Given the description of an element on the screen output the (x, y) to click on. 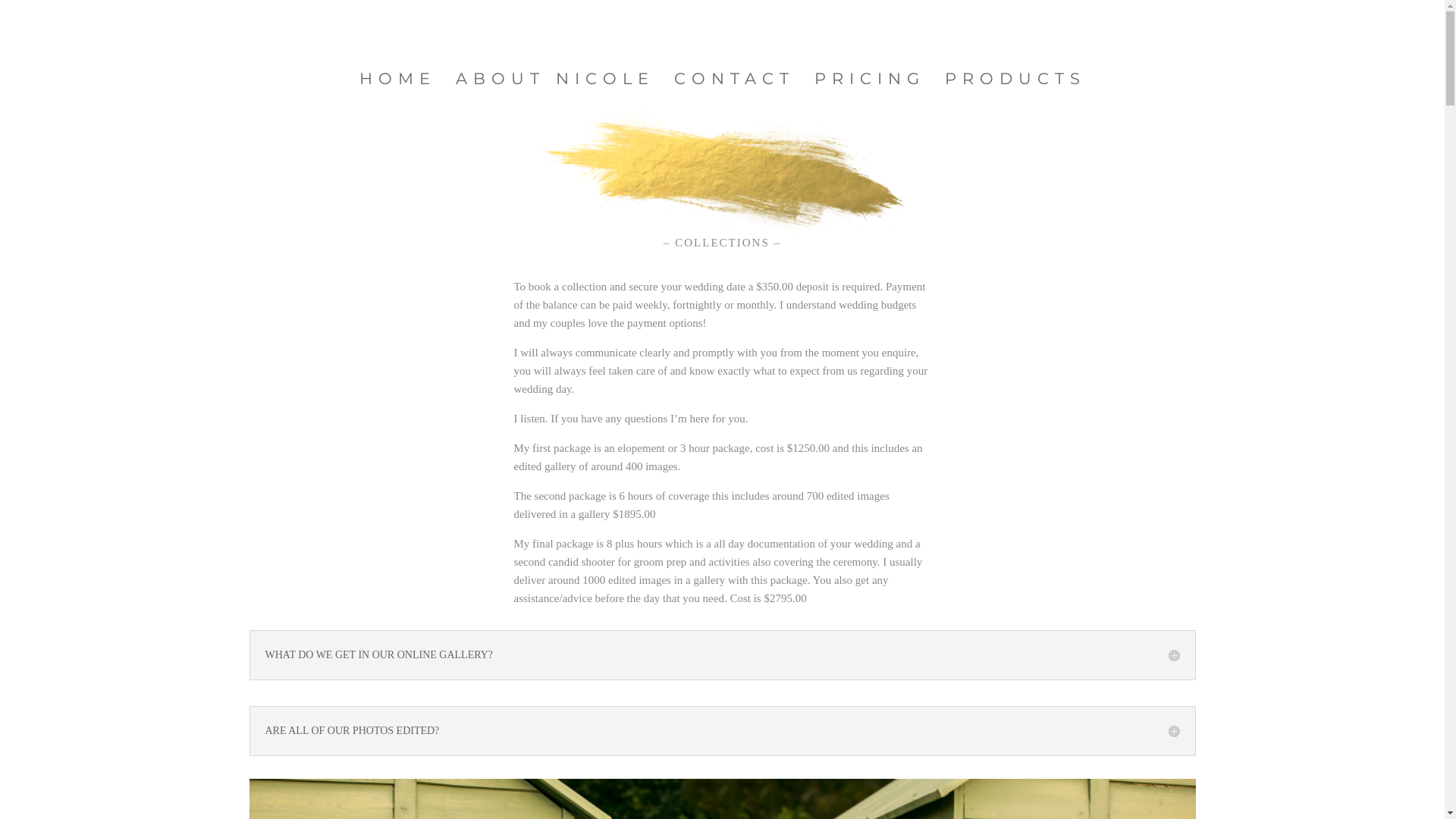
CONTACT Element type: text (733, 85)
PRODUCTS Element type: text (1014, 85)
PRICING Element type: text (869, 85)
ABOUT NICOLE Element type: text (554, 85)
HOME Element type: text (397, 85)
